Given the description of an element on the screen output the (x, y) to click on. 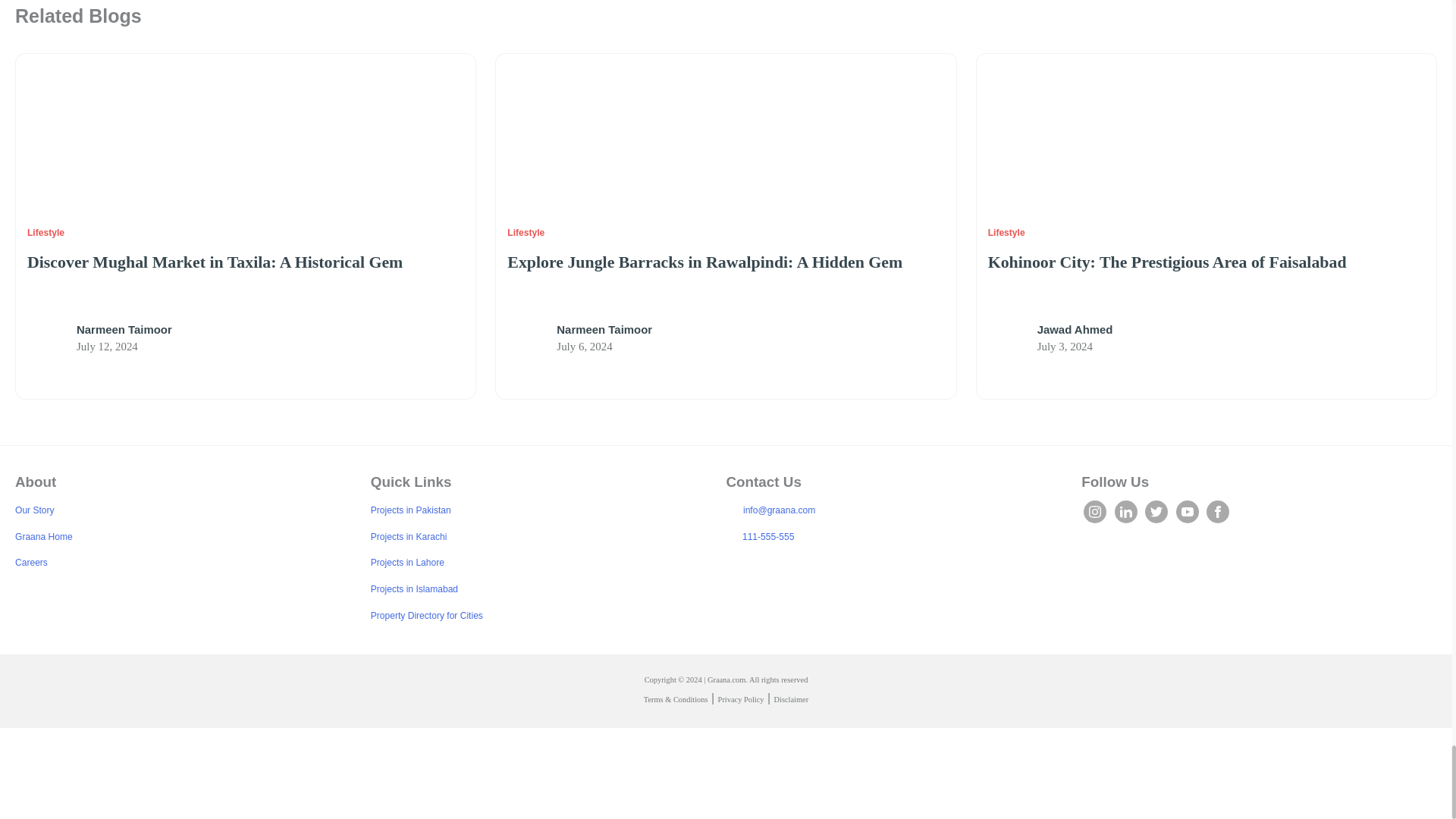
View all posts by Jawad Ahmed (1074, 328)
Narmeen Taimoor (525, 340)
Narmeen Taimoor (46, 340)
Graana Phone (730, 535)
Jawad Ahmed (1007, 340)
Graana Email (731, 510)
View all posts by Narmeen Taimoor (124, 328)
View all posts by Narmeen Taimoor (604, 328)
